Given the description of an element on the screen output the (x, y) to click on. 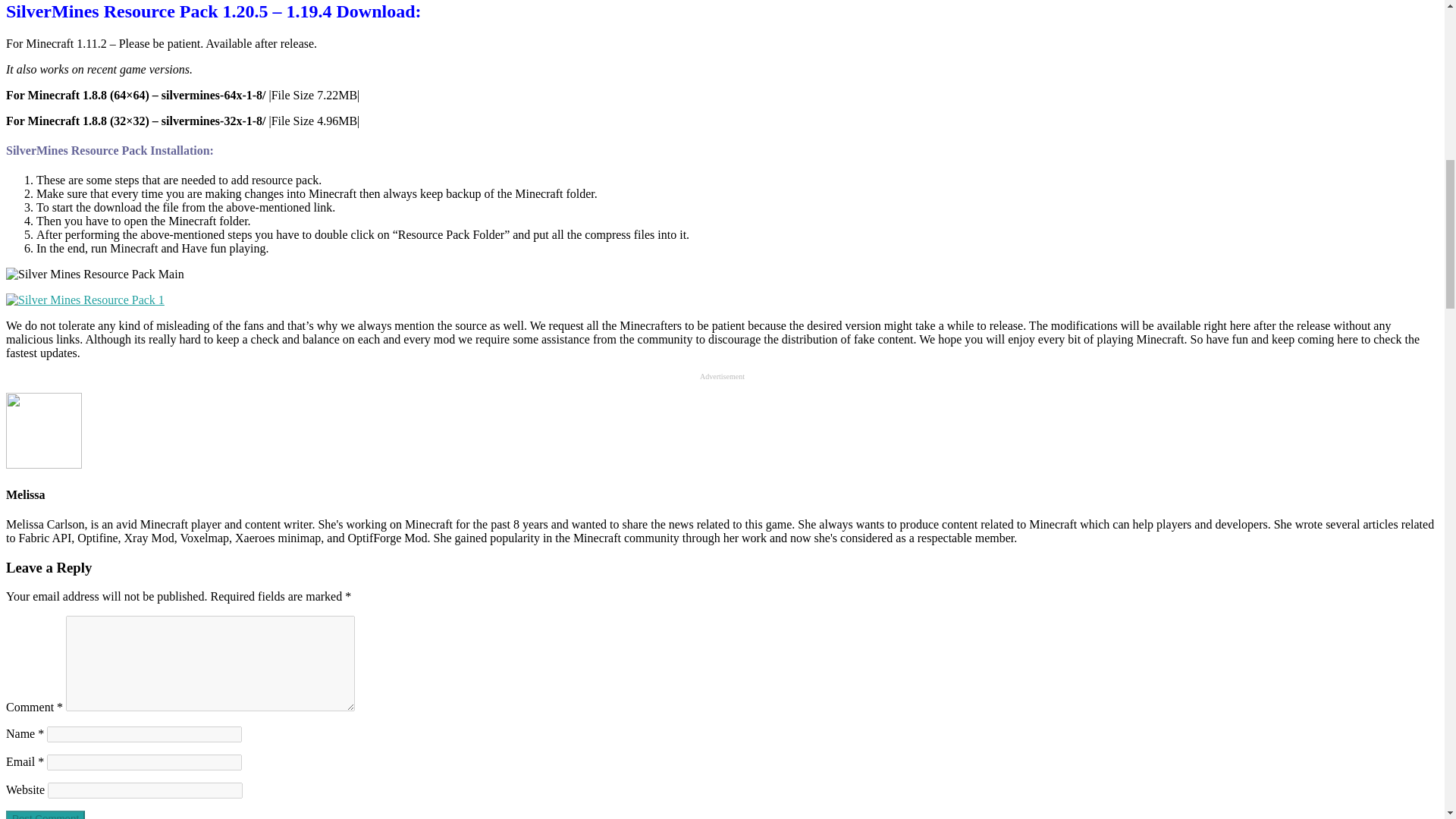
Post Comment (44, 814)
